Given the description of an element on the screen output the (x, y) to click on. 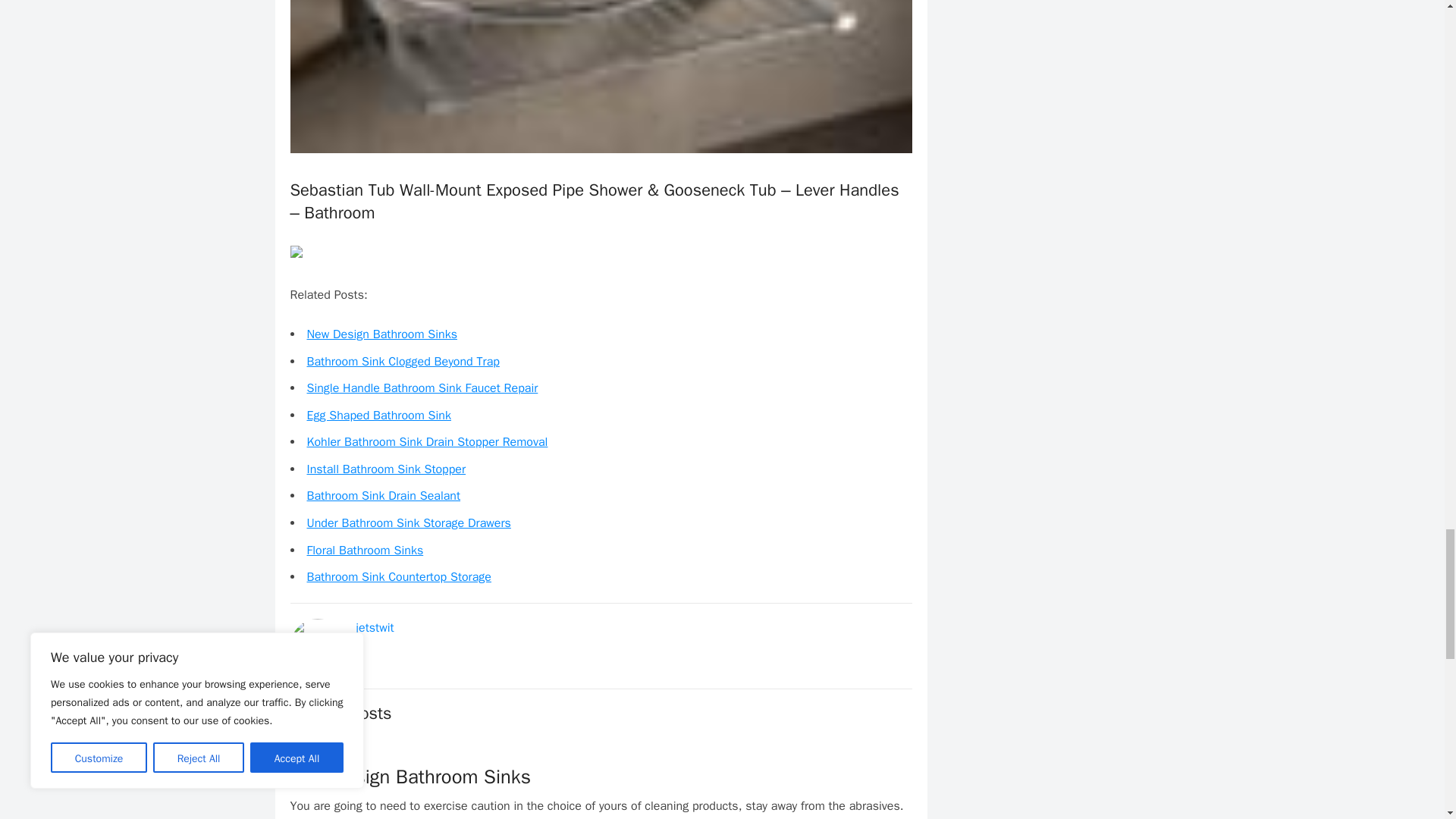
Bathroom Sink Drain Sealant (382, 495)
jetstwit (375, 627)
New Design Bathroom Sinks (381, 334)
Single Handle Bathroom Sink Faucet Repair (421, 387)
Bathroom Sink (325, 748)
New Design Bathroom Sinks (409, 776)
Floral Bathroom Sinks (364, 549)
Bathroom Sink Countertop Storage (397, 576)
Egg Shaped Bathroom Sink (377, 415)
Bathroom Sink Clogged Beyond Trap (402, 361)
Install Bathroom Sink Stopper (385, 468)
Under Bathroom Sink Storage Drawers (408, 522)
Kohler Bathroom Sink Drain Stopper Removal (426, 441)
